Given the description of an element on the screen output the (x, y) to click on. 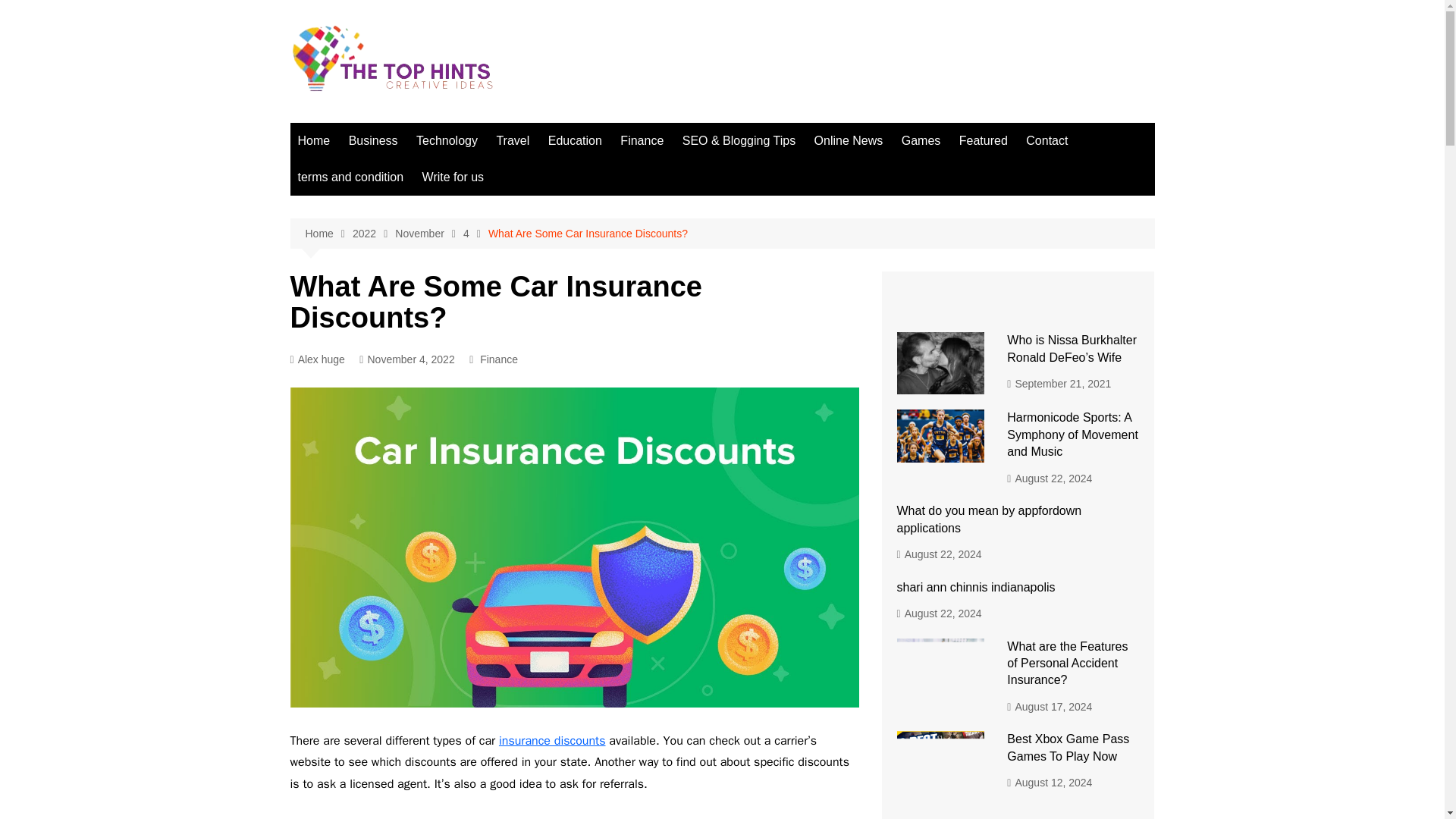
November (428, 233)
2022 (373, 233)
Games (921, 140)
Home (328, 233)
Technology (446, 140)
Online News (848, 140)
4 (475, 233)
Finance (641, 140)
insurance discounts (552, 740)
Featured (983, 140)
